Given the description of an element on the screen output the (x, y) to click on. 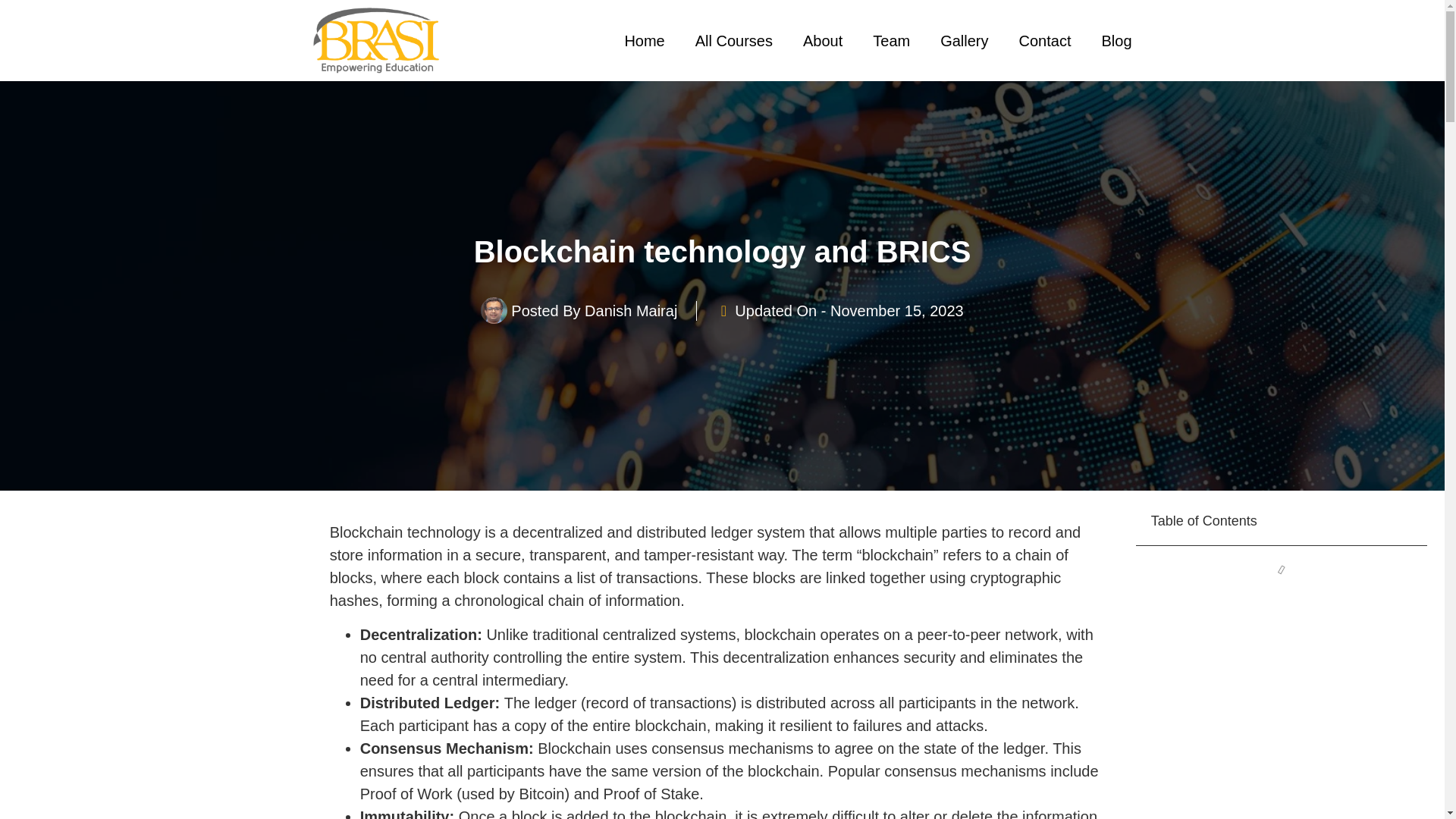
Gallery (963, 40)
All Courses (733, 40)
Team (890, 40)
Home (643, 40)
Blog (1116, 40)
Contact (1045, 40)
About (822, 40)
